Given the description of an element on the screen output the (x, y) to click on. 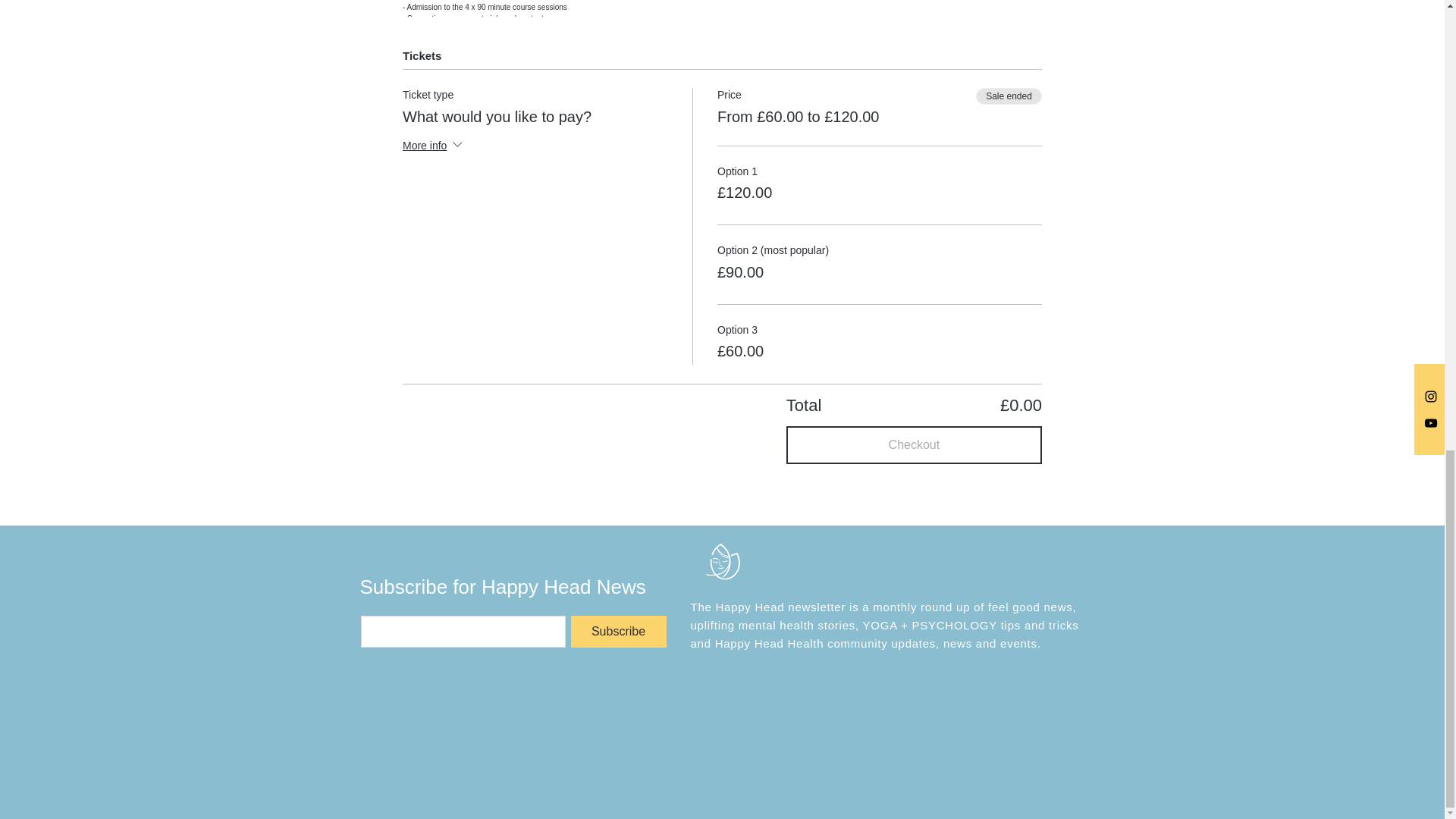
More info (434, 146)
Checkout (914, 444)
Subscribe (617, 631)
